Given the description of an element on the screen output the (x, y) to click on. 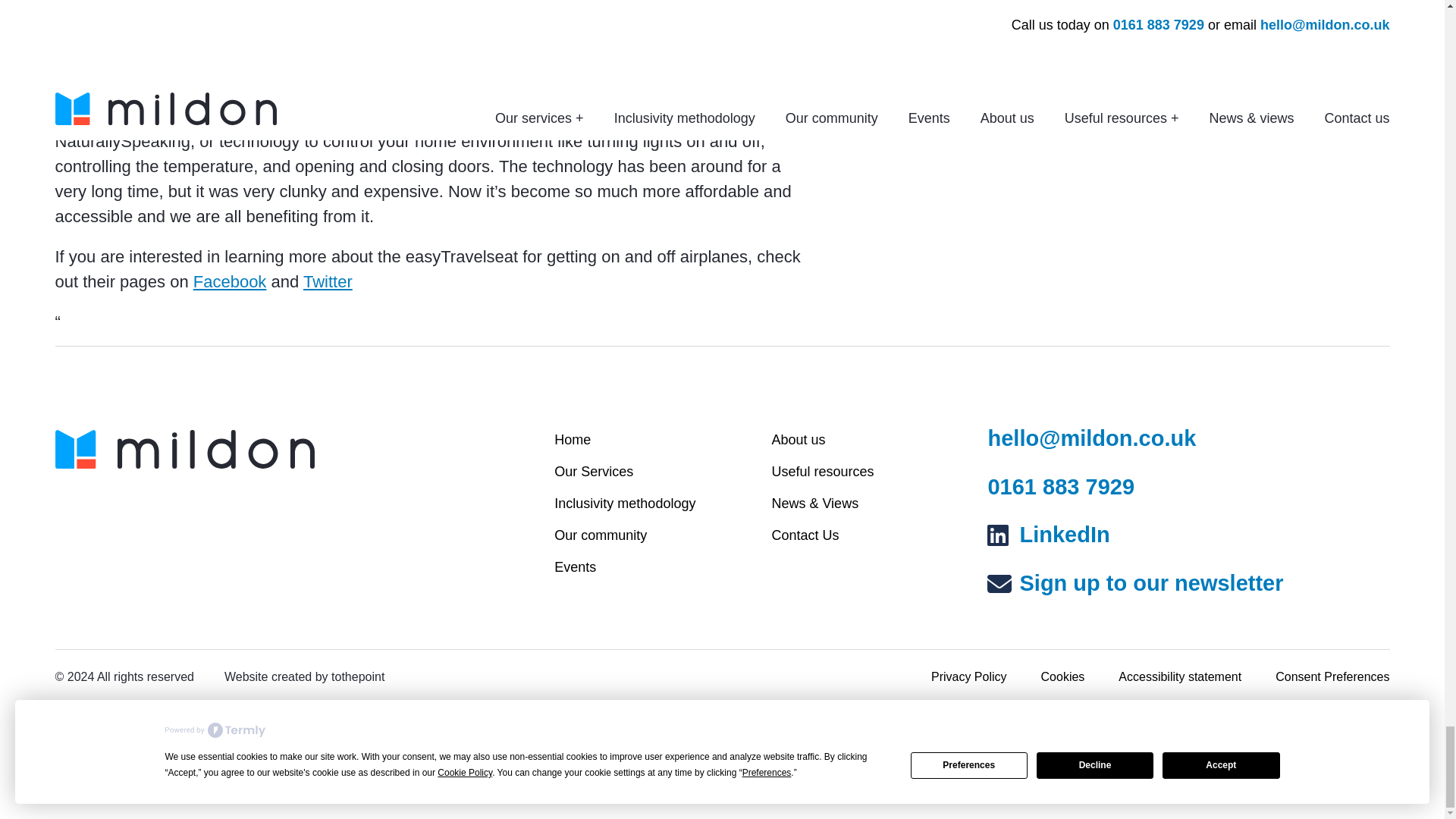
Our community (600, 534)
Twitter (327, 281)
Events (574, 566)
About us (798, 439)
Facebook (229, 281)
Our Services (593, 471)
Inclusivity methodology (624, 503)
Home (572, 439)
Useful resources (822, 471)
